Given the description of an element on the screen output the (x, y) to click on. 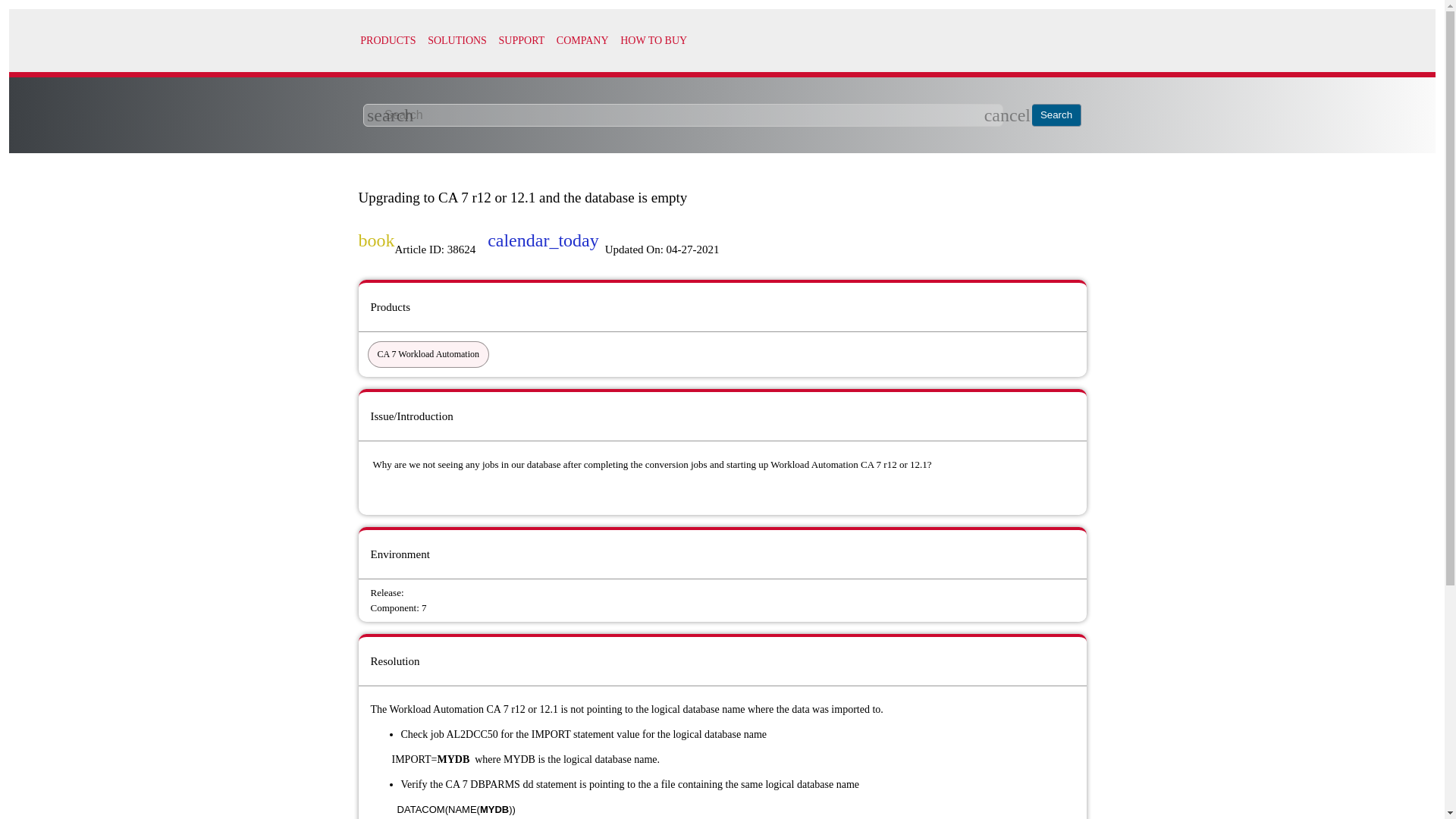
Search (1056, 115)
